Given the description of an element on the screen output the (x, y) to click on. 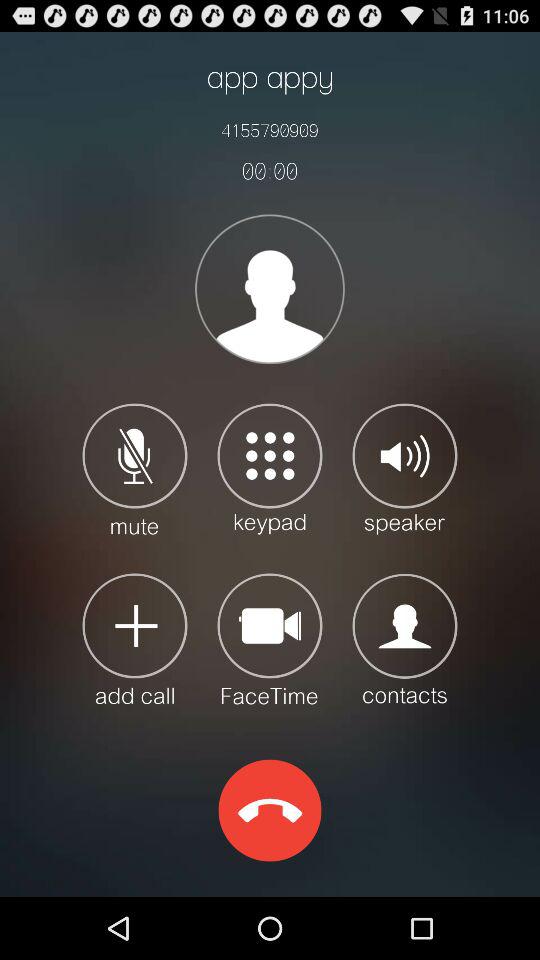
increase or decrease the volume (404, 468)
